Given the description of an element on the screen output the (x, y) to click on. 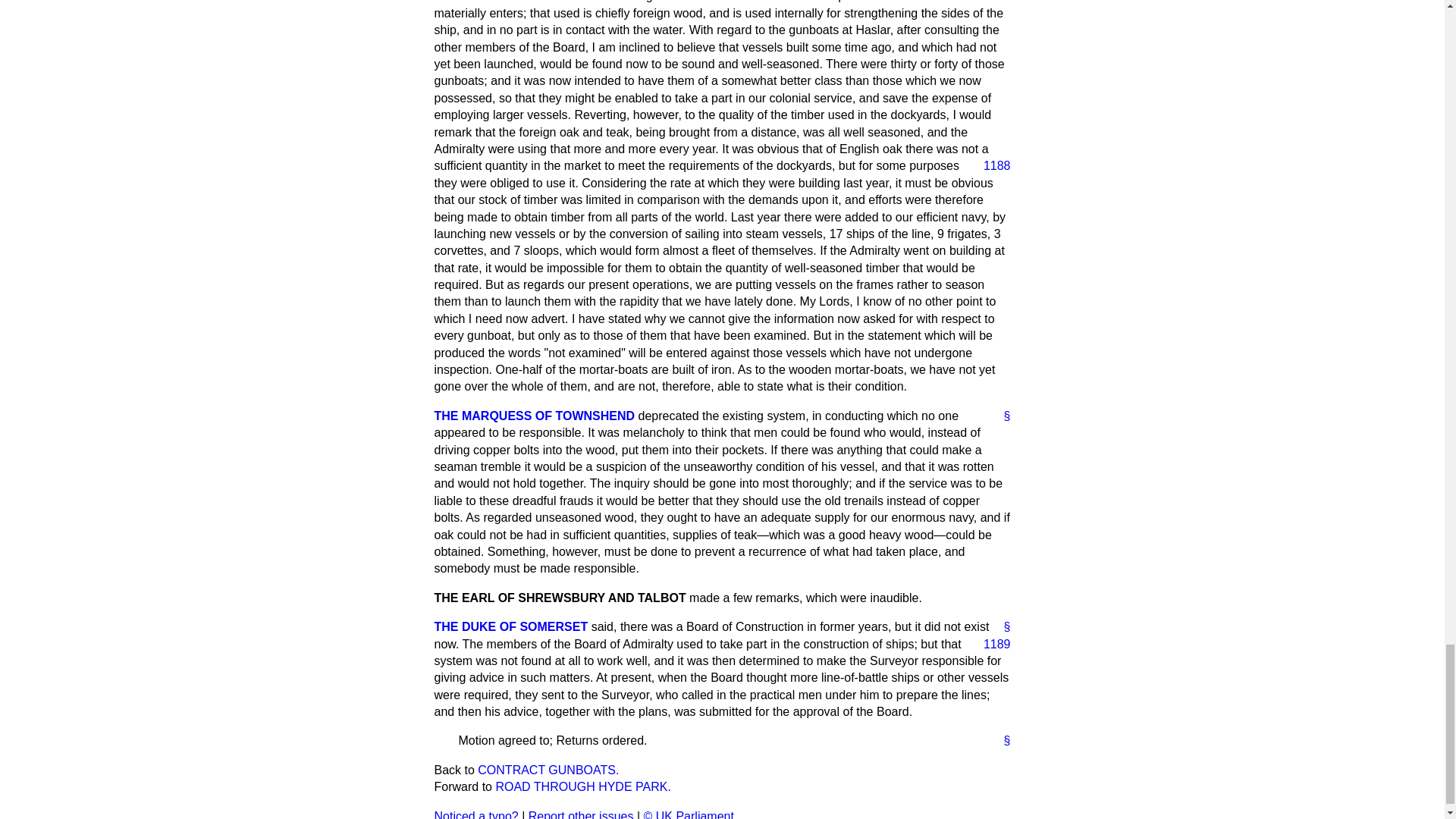
THE MARQUESS OF TOWNSHEND (533, 415)
CONTRACT GUNBOATS. (547, 769)
1188 (990, 166)
Lord  Seymour (510, 626)
Captain John Townshend (533, 415)
THE DUKE OF SOMERSET (510, 626)
1189 (990, 644)
Link to this speech by Captain John Townshend (1000, 416)
ROAD THROUGH HYDE PARK. (582, 786)
Link to this speech by Lord  Seymour (1000, 627)
